Given the description of an element on the screen output the (x, y) to click on. 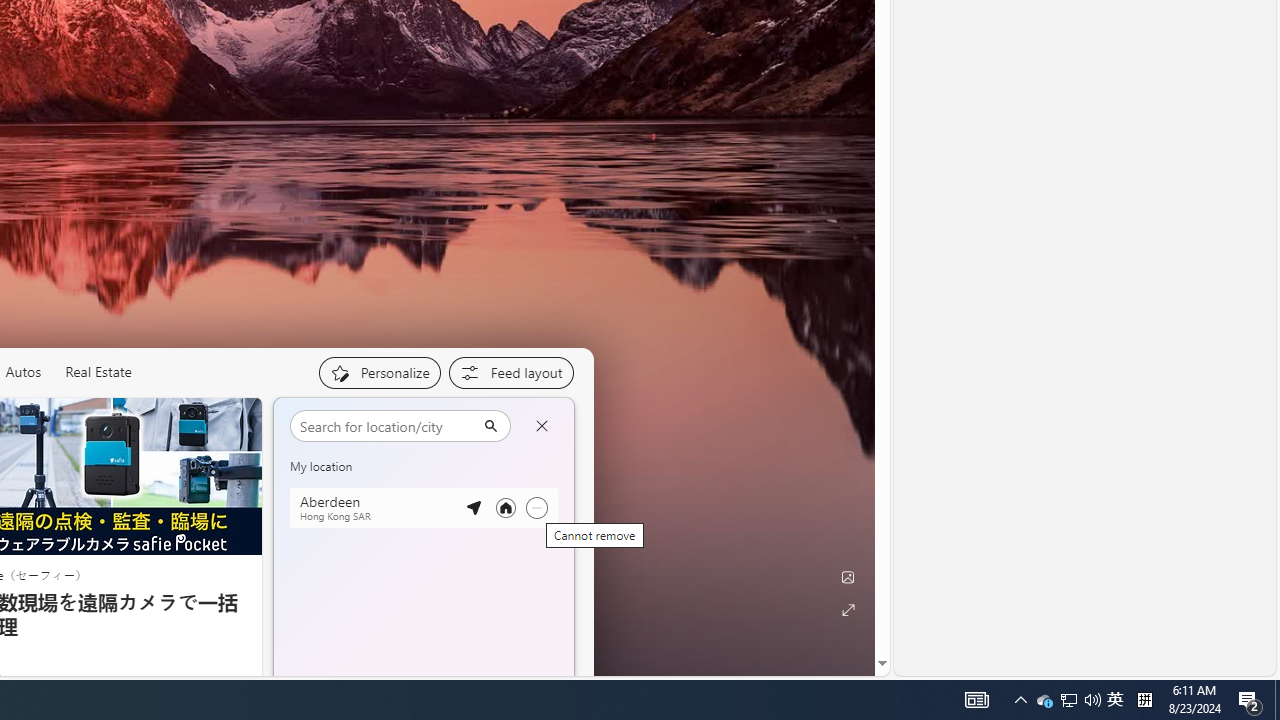
previous (283, 549)
Expand background (847, 610)
search (386, 426)
Personalize your feed" (379, 372)
Feed settings (510, 372)
Mostly sunny (477, 585)
Expect rain showers next Tuesday (551, 474)
Shanghai (319, 422)
Cannot remove (536, 507)
